Given the description of an element on the screen output the (x, y) to click on. 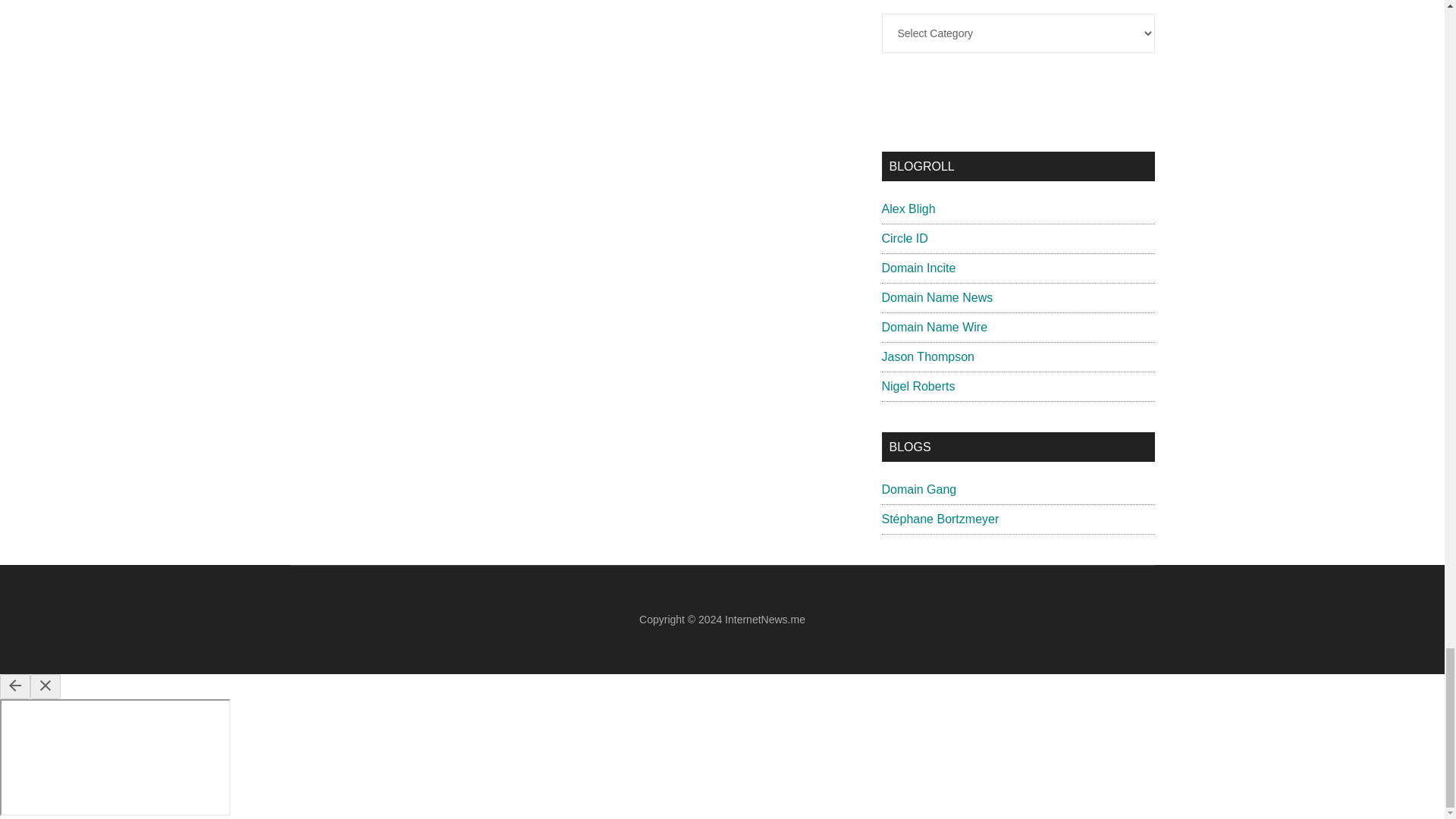
Jason Thompson (927, 356)
Domain news and humour (918, 489)
